Given the description of an element on the screen output the (x, y) to click on. 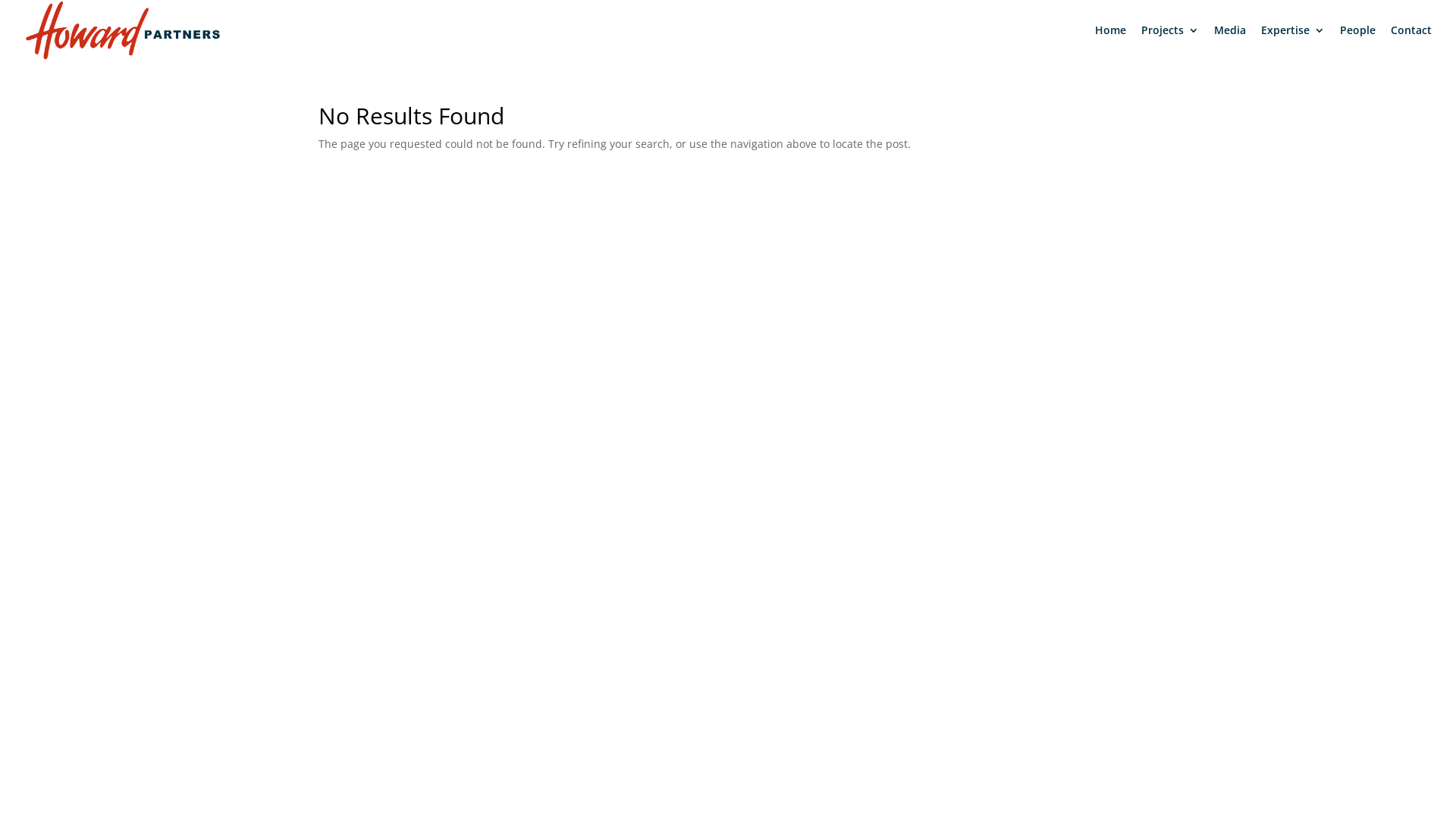
Projects Element type: text (1169, 42)
Expertise Element type: text (1292, 42)
Media Element type: text (1229, 42)
Home Element type: text (1110, 42)
Contact Element type: text (1410, 42)
People Element type: text (1357, 42)
